Given the description of an element on the screen output the (x, y) to click on. 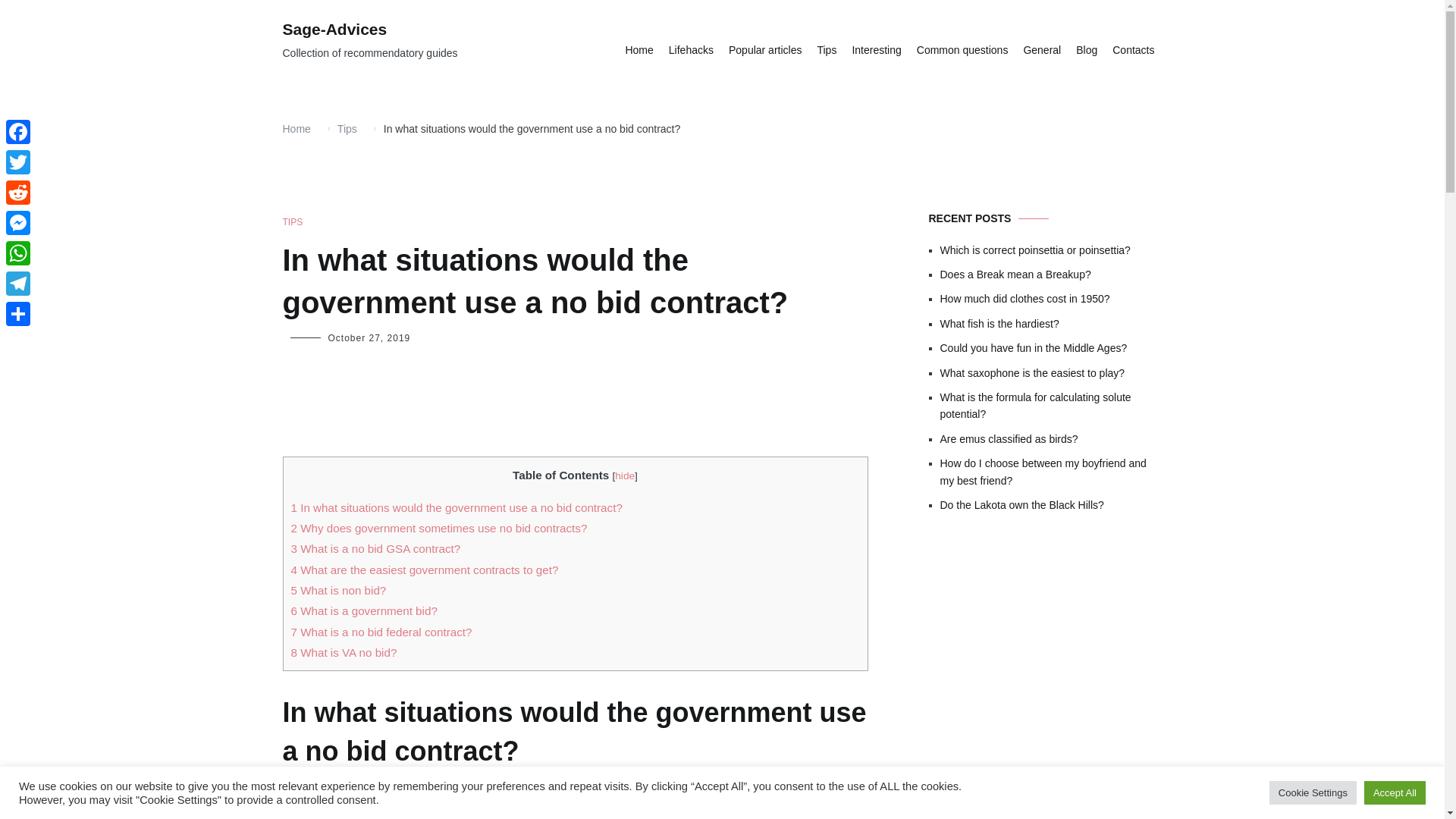
Common questions (963, 49)
Interesting (876, 49)
2 Why does government sometimes use no bid contracts? (439, 527)
hide (624, 475)
Facebook (17, 132)
7 What is a no bid federal contract? (381, 631)
Sage-Advices (334, 28)
Popular articles (765, 49)
6 What is a government bid? (364, 610)
Twitter (17, 162)
What fish is the hardiest? (1050, 323)
8 What is VA no bid? (344, 652)
October 27, 2019 (368, 337)
How much did clothes cost in 1950? (1050, 298)
